Given the description of an element on the screen output the (x, y) to click on. 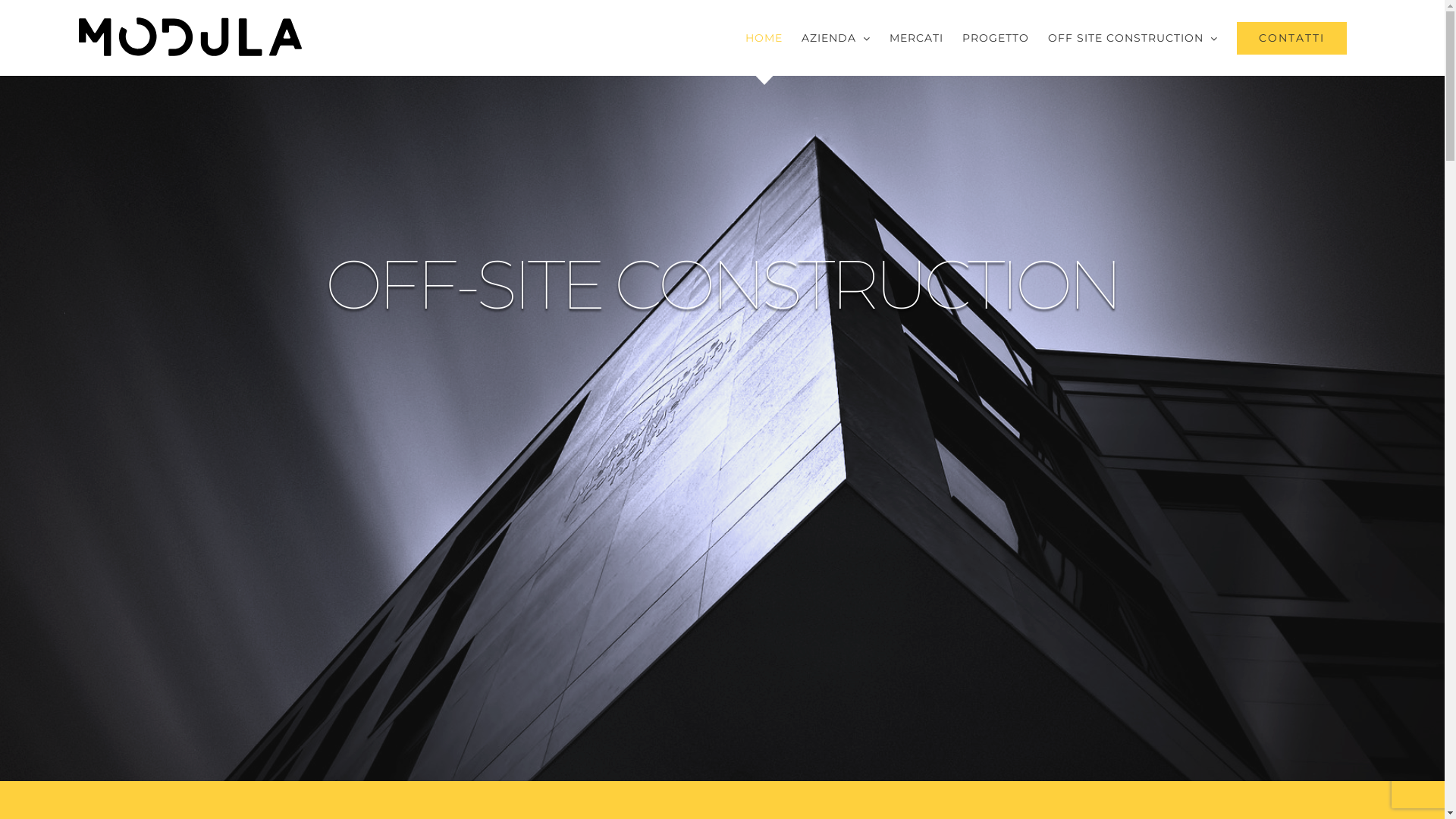
MERCATI Element type: text (916, 37)
OFF SITE CONSTRUCTION Element type: text (1132, 37)
PROGETTO Element type: text (995, 37)
CONTATTI Element type: text (1291, 37)
AZIENDA Element type: text (835, 37)
HOME Element type: text (763, 37)
